Given the description of an element on the screen output the (x, y) to click on. 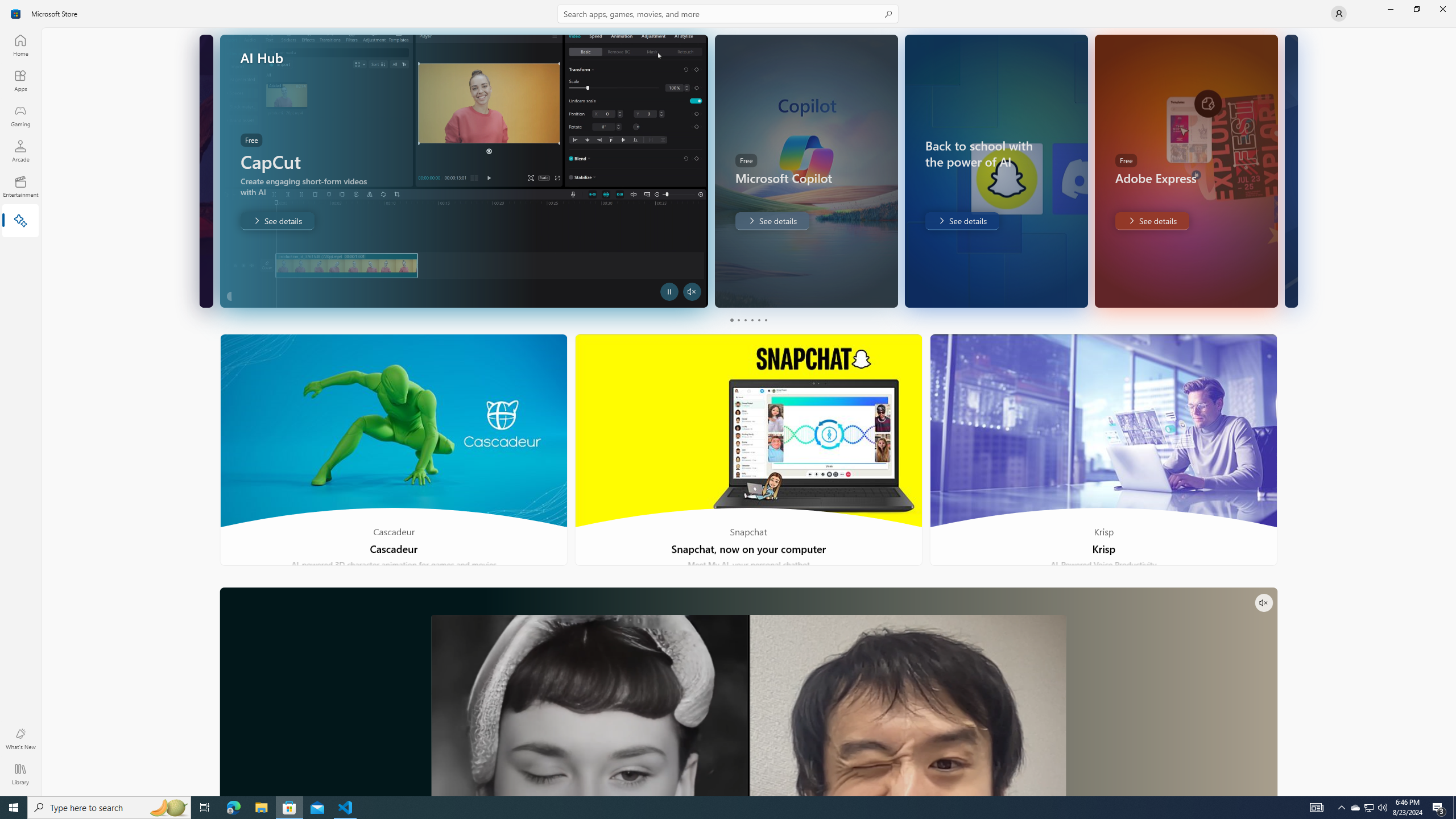
Become anyone on Zoom, Twitch, or any streaming video (747, 691)
Page 4 (751, 319)
Entertainment (20, 185)
